Given the description of an element on the screen output the (x, y) to click on. 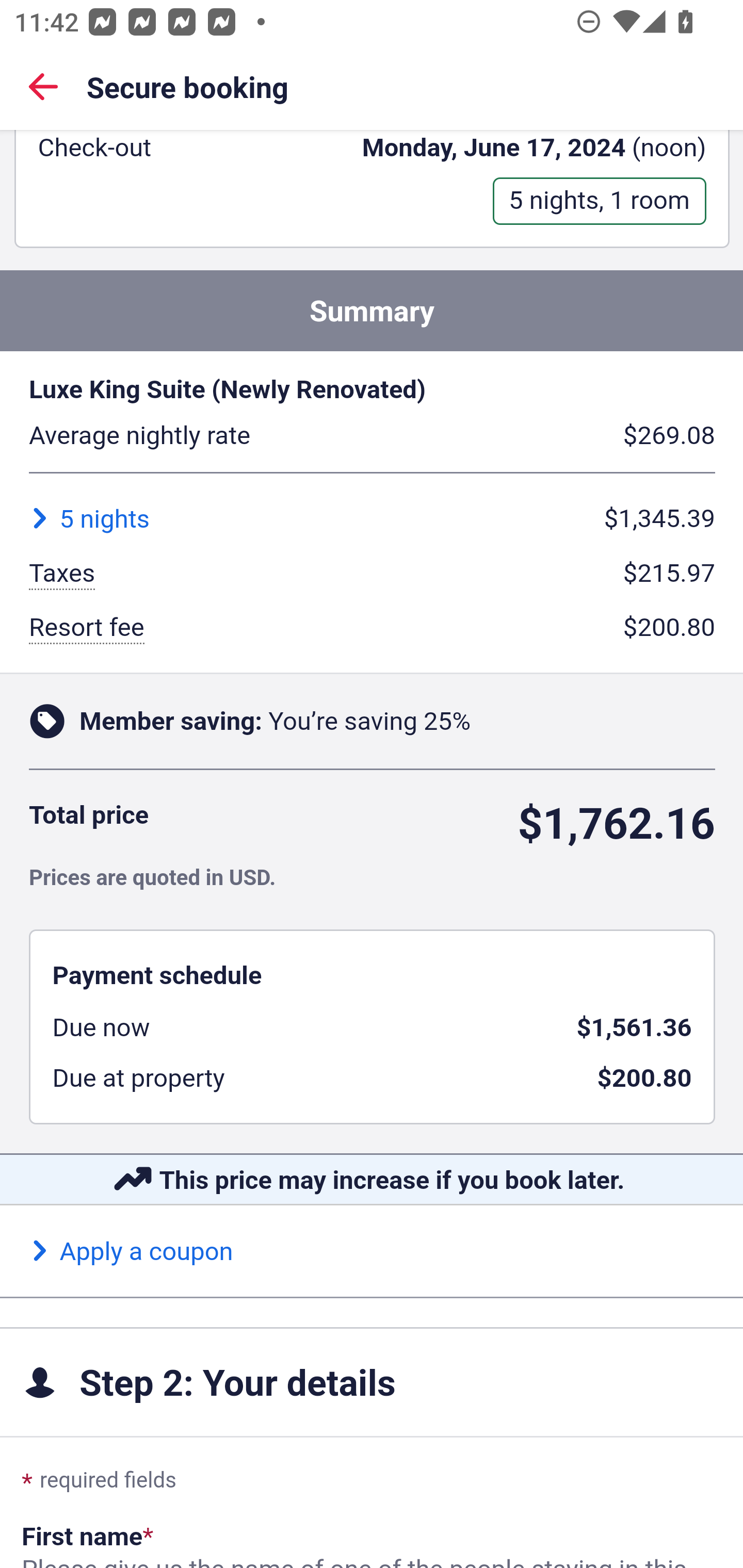
Back (43, 86)
5 nights (88, 519)
Taxes (61, 575)
Resort fee (86, 629)
Apply a coupon (131, 1251)
